Given the description of an element on the screen output the (x, y) to click on. 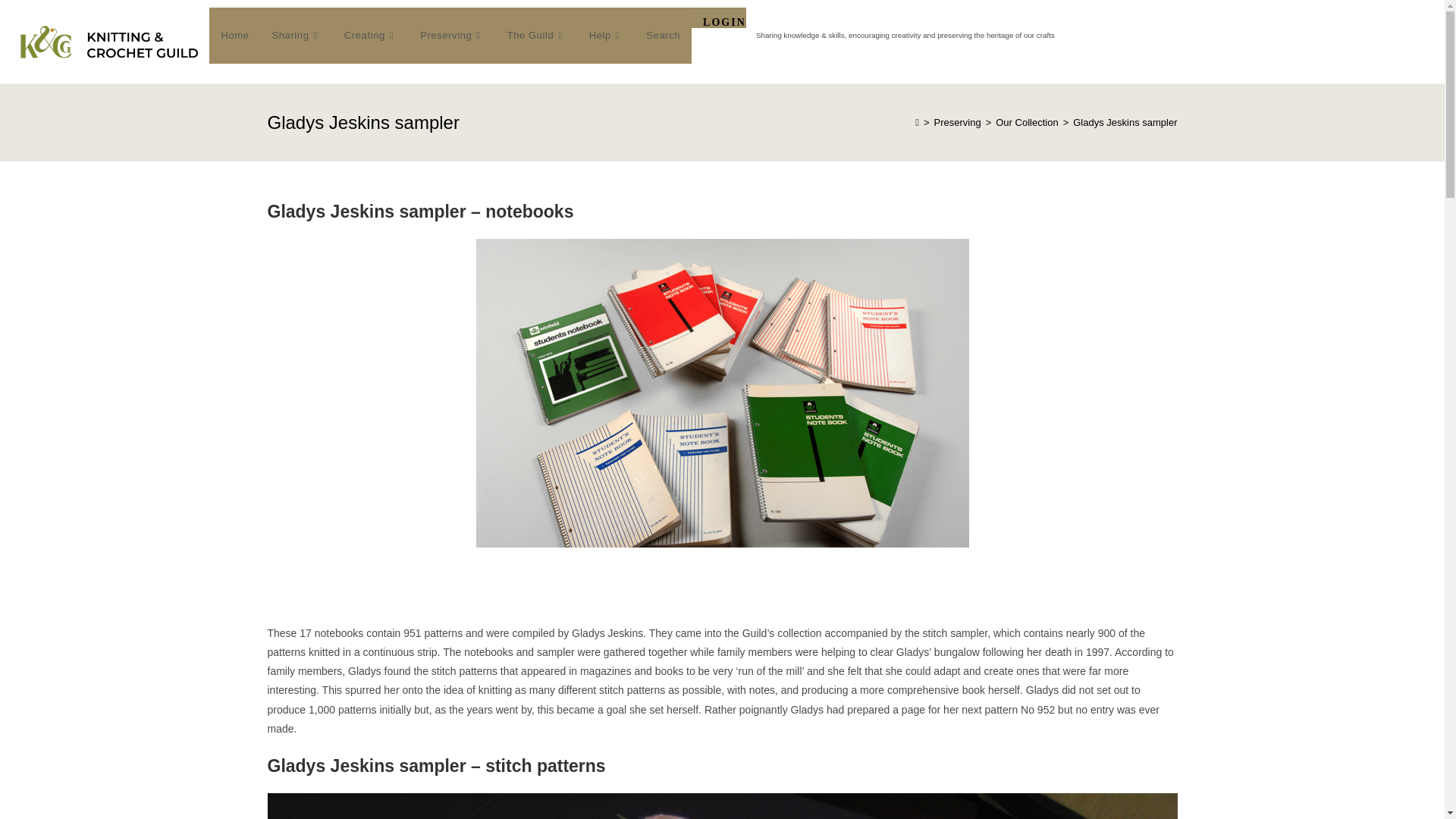
Sharing (295, 35)
Creating (371, 35)
Home (234, 35)
Preserving (452, 35)
